Given the description of an element on the screen output the (x, y) to click on. 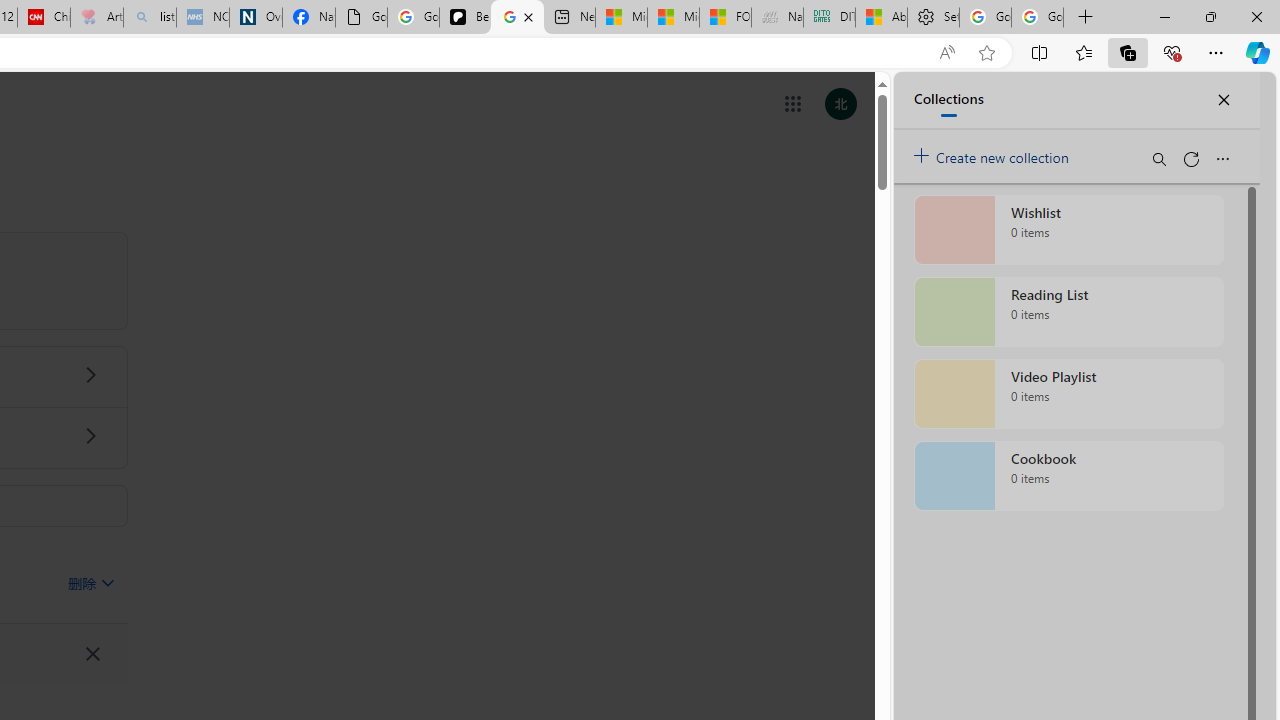
Google Analytics Opt-out Browser Add-on Download Page (360, 17)
DITOGAMES AG Imprint (829, 17)
list of asthma inhalers uk - Search - Sleeping (150, 17)
Be Smart | creating Science videos | Patreon (465, 17)
Aberdeen, Hong Kong SAR hourly forecast | Microsoft Weather (881, 17)
